Given the description of an element on the screen output the (x, y) to click on. 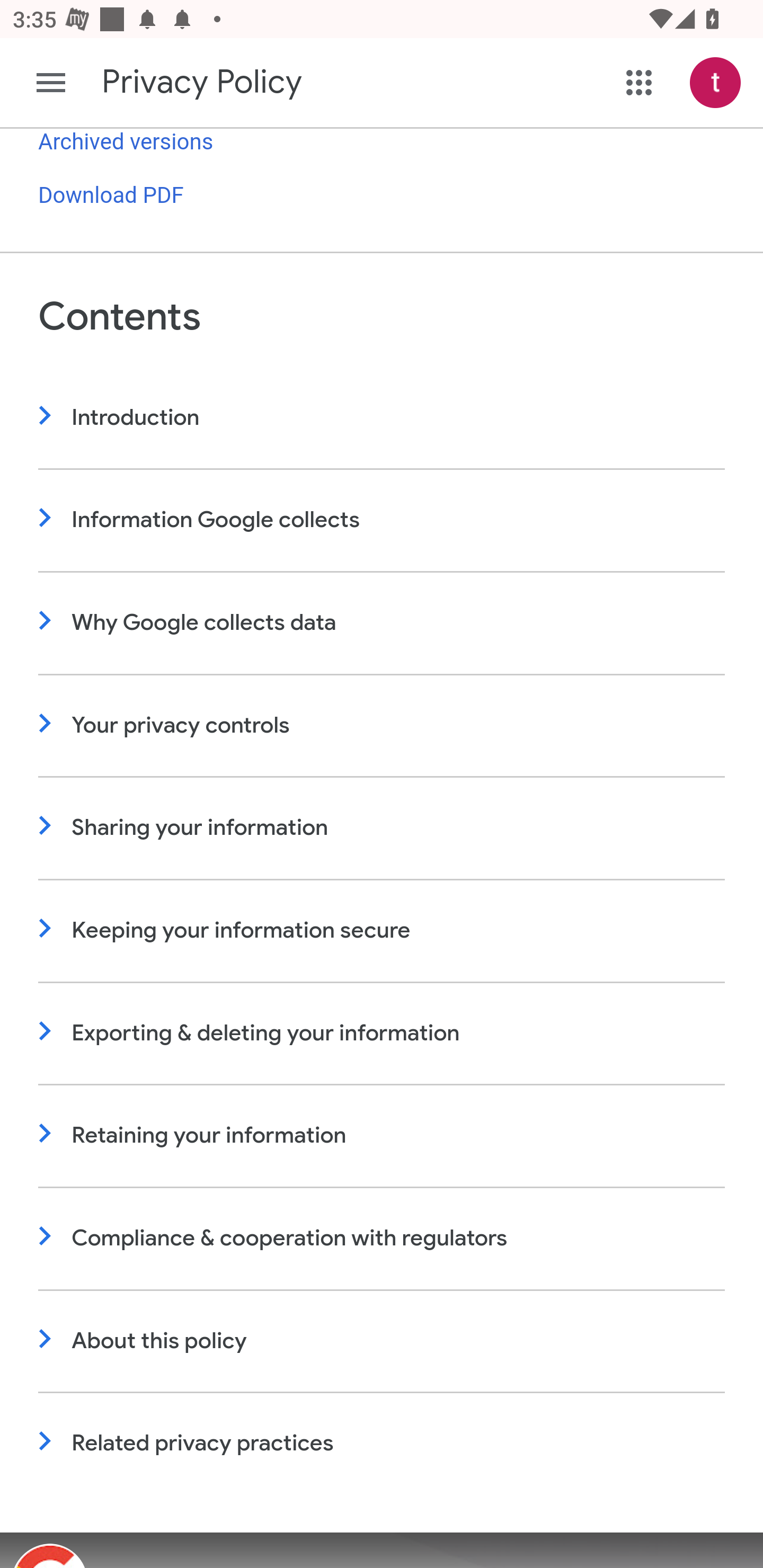
Main menu (50, 82)
Google apps (638, 83)
Archived versions (126, 142)
Download PDF (111, 196)
Introduction (381, 418)
Information Google collects (381, 521)
Why Google collects data (381, 623)
Your privacy controls (381, 726)
Sharing your information (381, 828)
Keeping your information secure (381, 930)
Exporting & deleting your information (381, 1033)
Retaining your information (381, 1136)
Compliance & cooperation with regulators (381, 1239)
About this policy (381, 1341)
Related privacy practices (381, 1444)
